Given the description of an element on the screen output the (x, y) to click on. 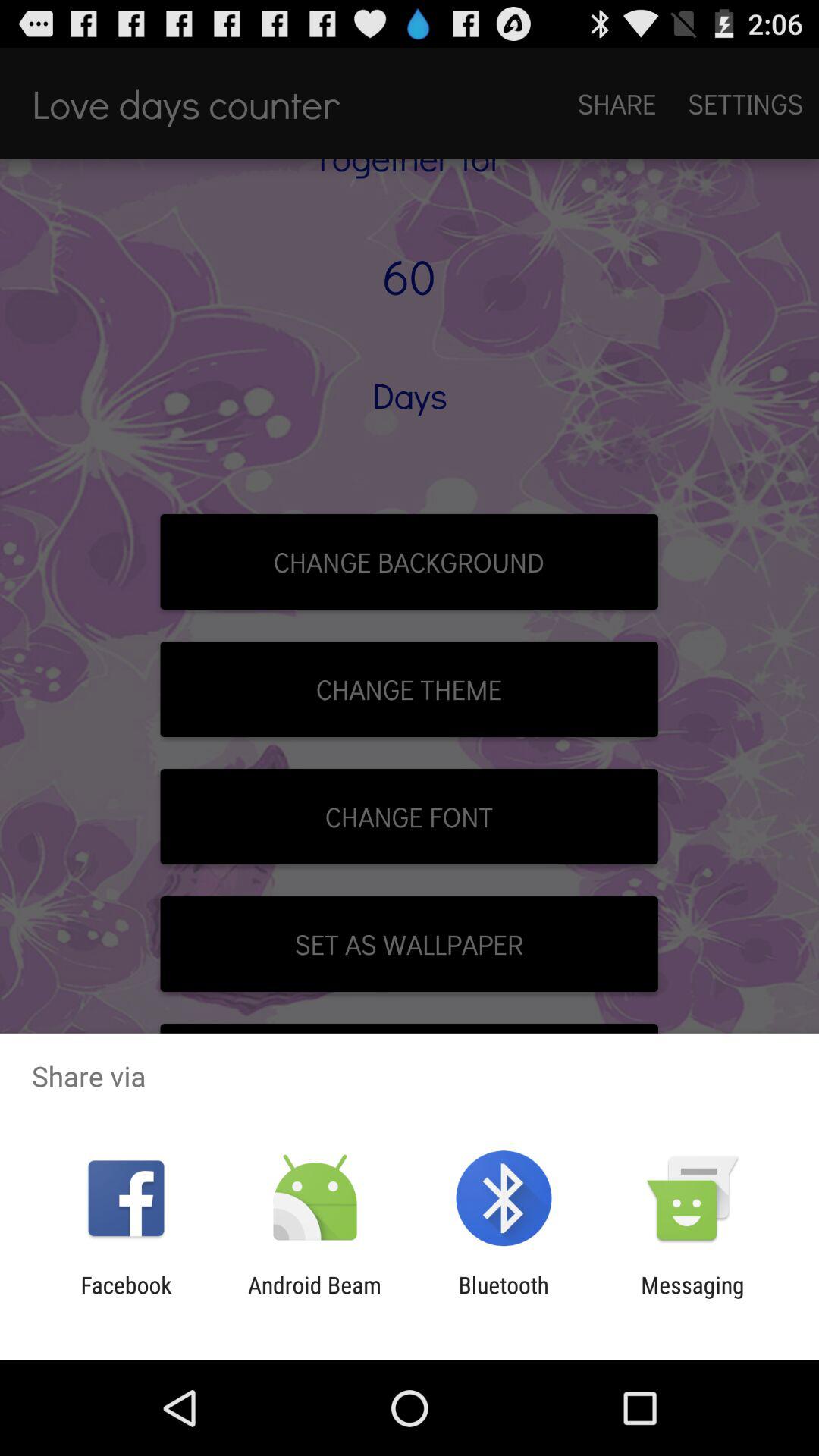
turn off the facebook icon (125, 1298)
